Given the description of an element on the screen output the (x, y) to click on. 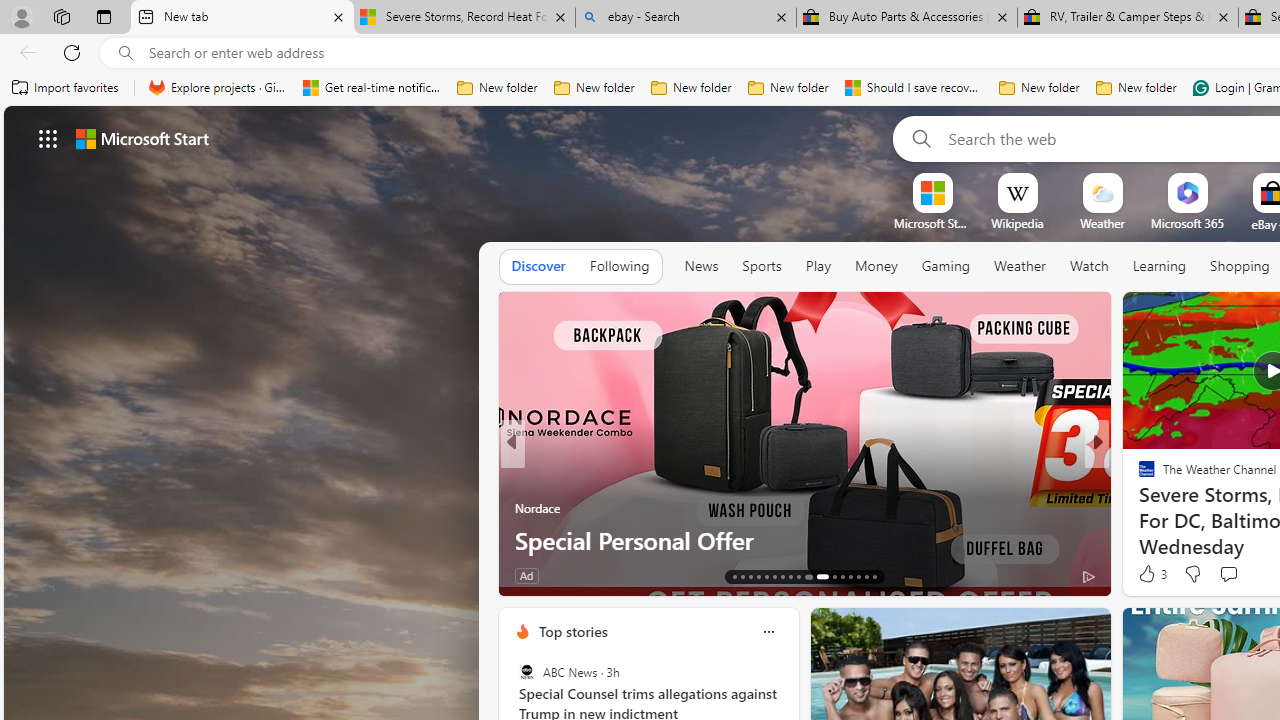
Top stories (572, 631)
More options (768, 631)
TheStreet (1138, 507)
Money (875, 265)
AutomationID: tab-25 (842, 576)
Verywell Mind (1138, 507)
ebay - Search (686, 17)
AutomationID: tab-18 (774, 576)
MUO (1138, 507)
View comments 167 Comment (1234, 575)
Ad (1142, 575)
AutomationID: tab-19 (782, 576)
Shopping (1240, 265)
Sports (761, 265)
